Given the description of an element on the screen output the (x, y) to click on. 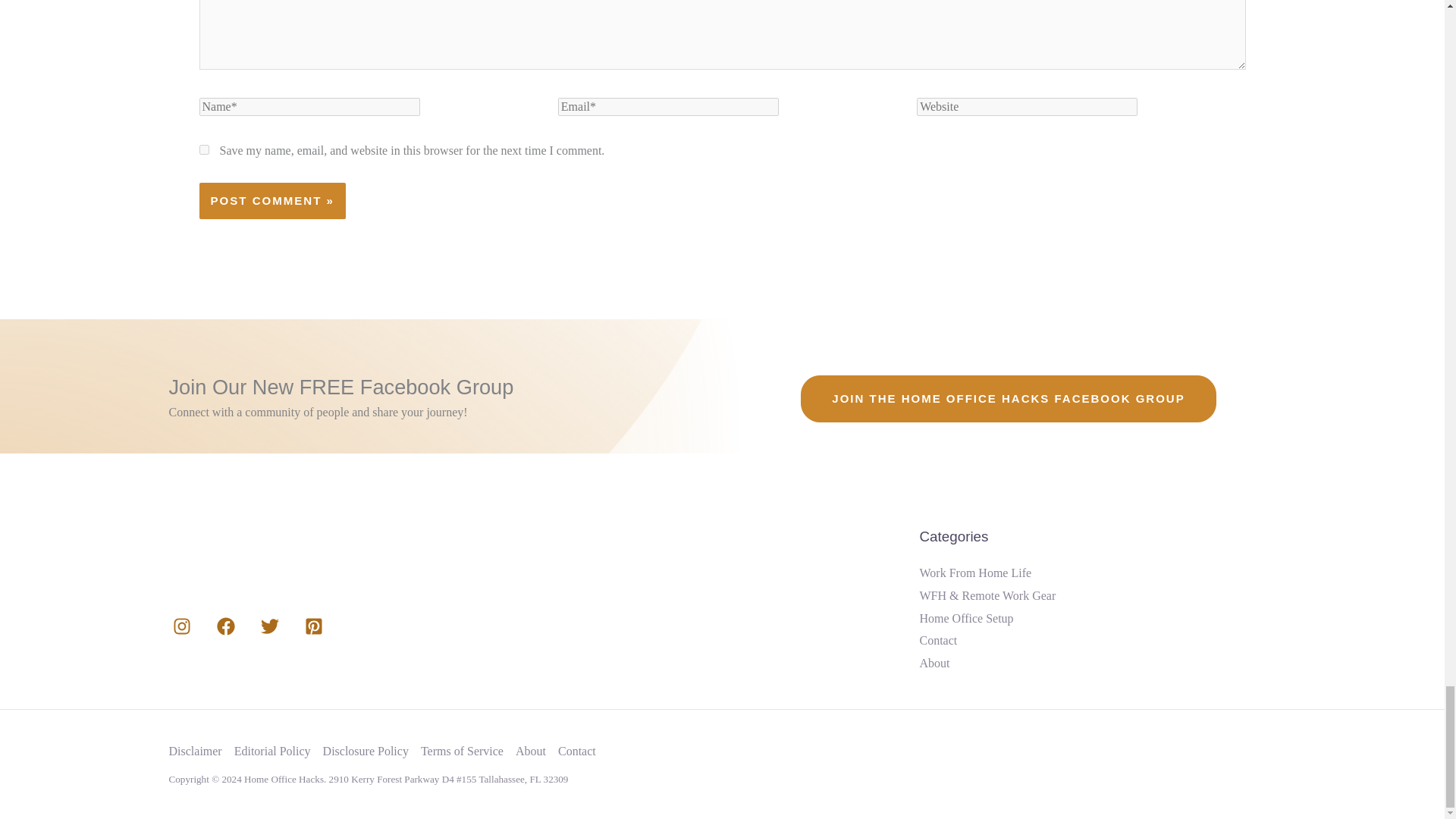
yes (203, 149)
